Given the description of an element on the screen output the (x, y) to click on. 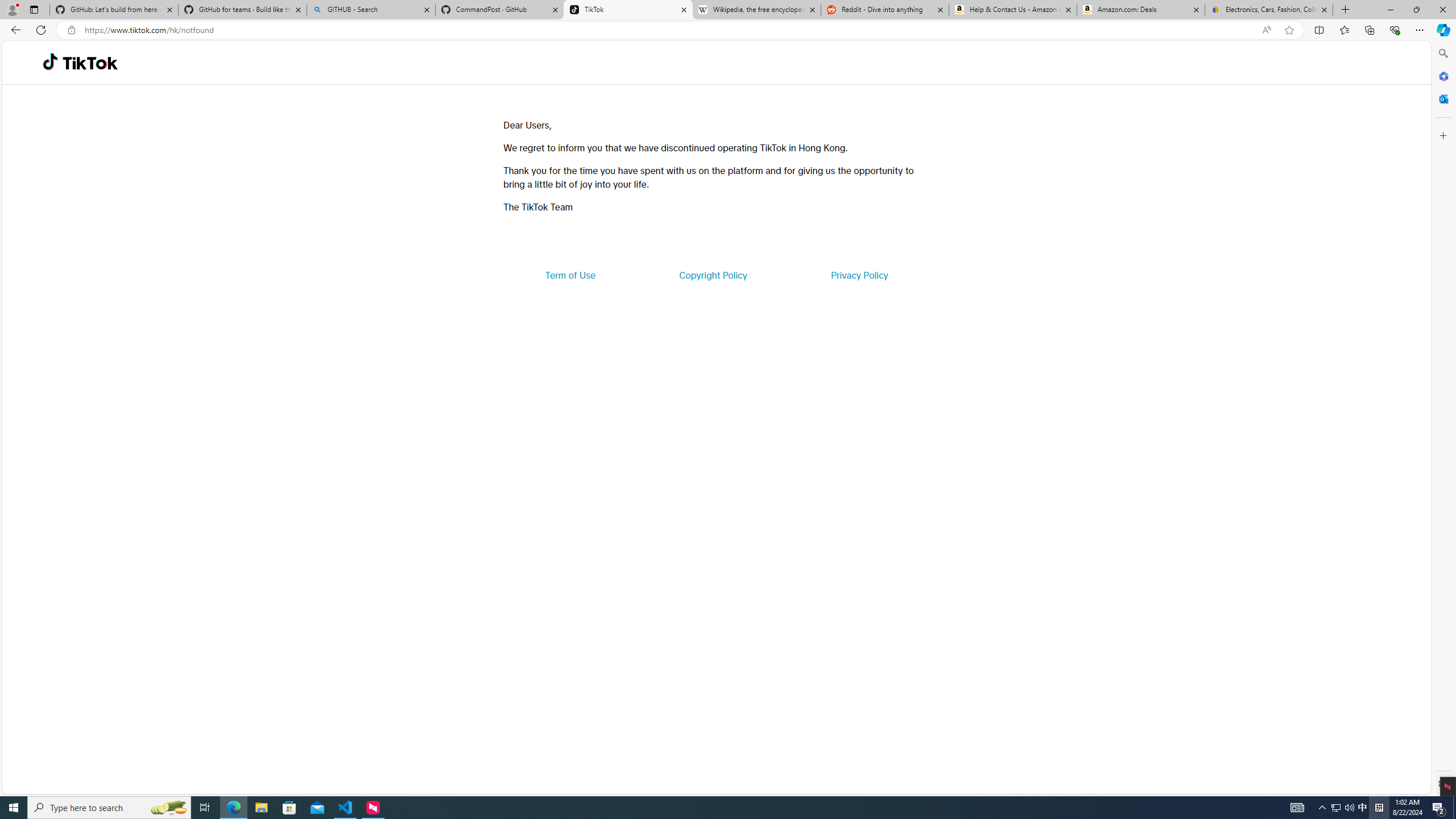
Customize (1442, 135)
Close Outlook pane (1442, 98)
Reddit - Dive into anything (884, 9)
TikTok (89, 62)
Privacy Policy (858, 274)
GITHUB - Search (370, 9)
Amazon.com: Deals (1140, 9)
